Given the description of an element on the screen output the (x, y) to click on. 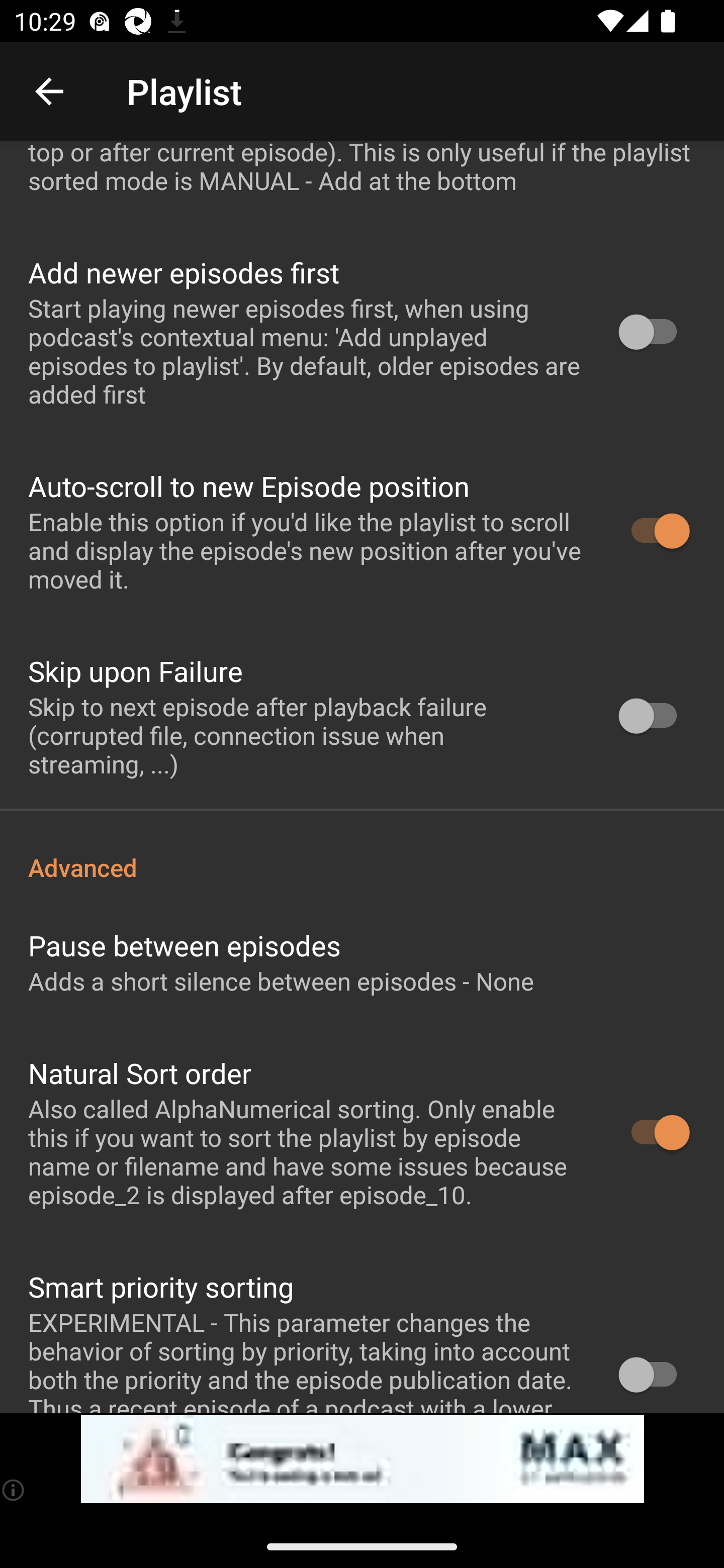
Navigate up (49, 91)
app-monetization (362, 1459)
(i) (14, 1489)
